Given the description of an element on the screen output the (x, y) to click on. 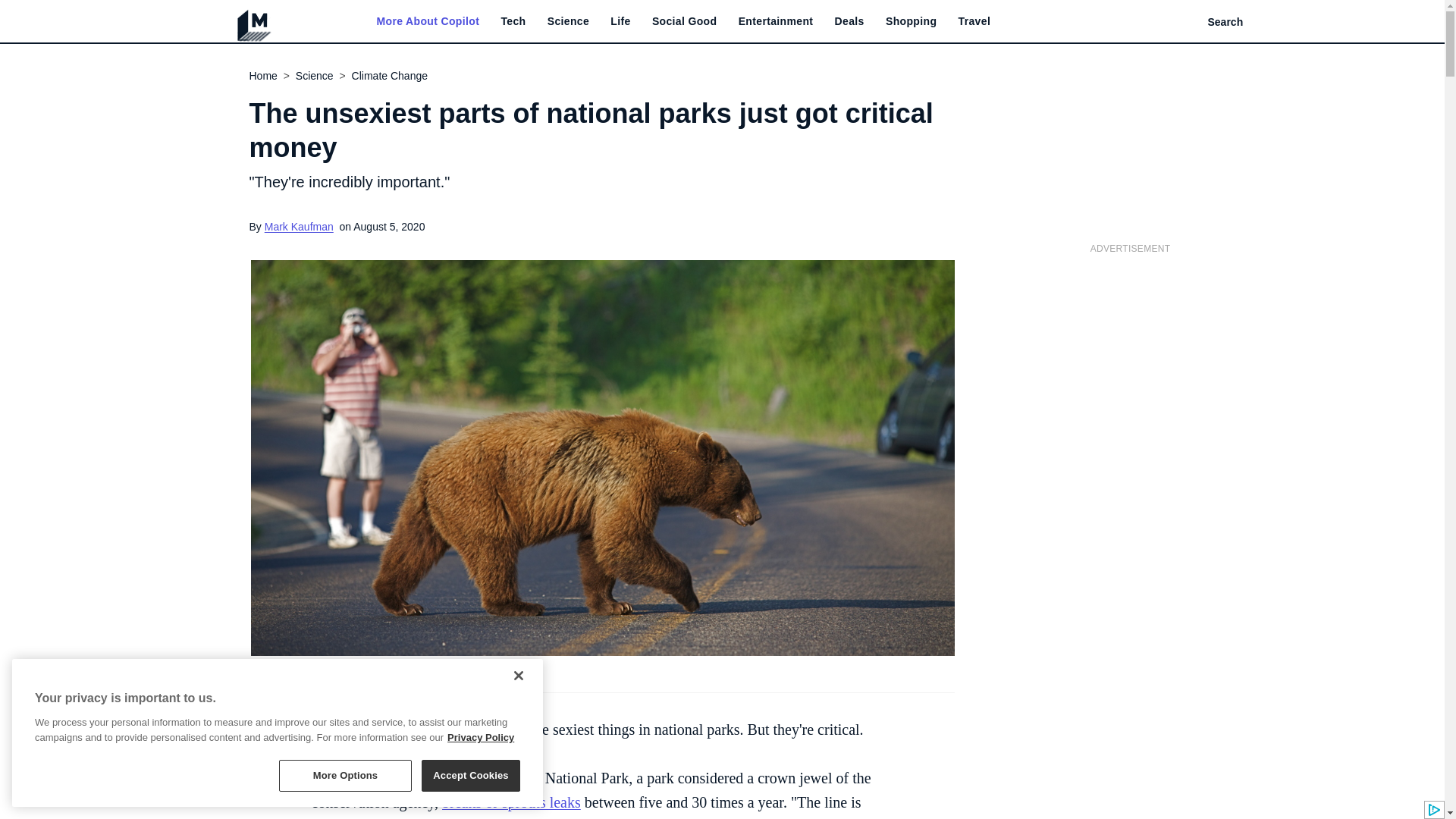
Life (620, 21)
Shopping (910, 21)
More About Copilot (427, 21)
Science (568, 21)
Social Good (684, 21)
Entertainment (775, 21)
Travel (974, 21)
Tech (512, 21)
Deals (849, 21)
